Given the description of an element on the screen output the (x, y) to click on. 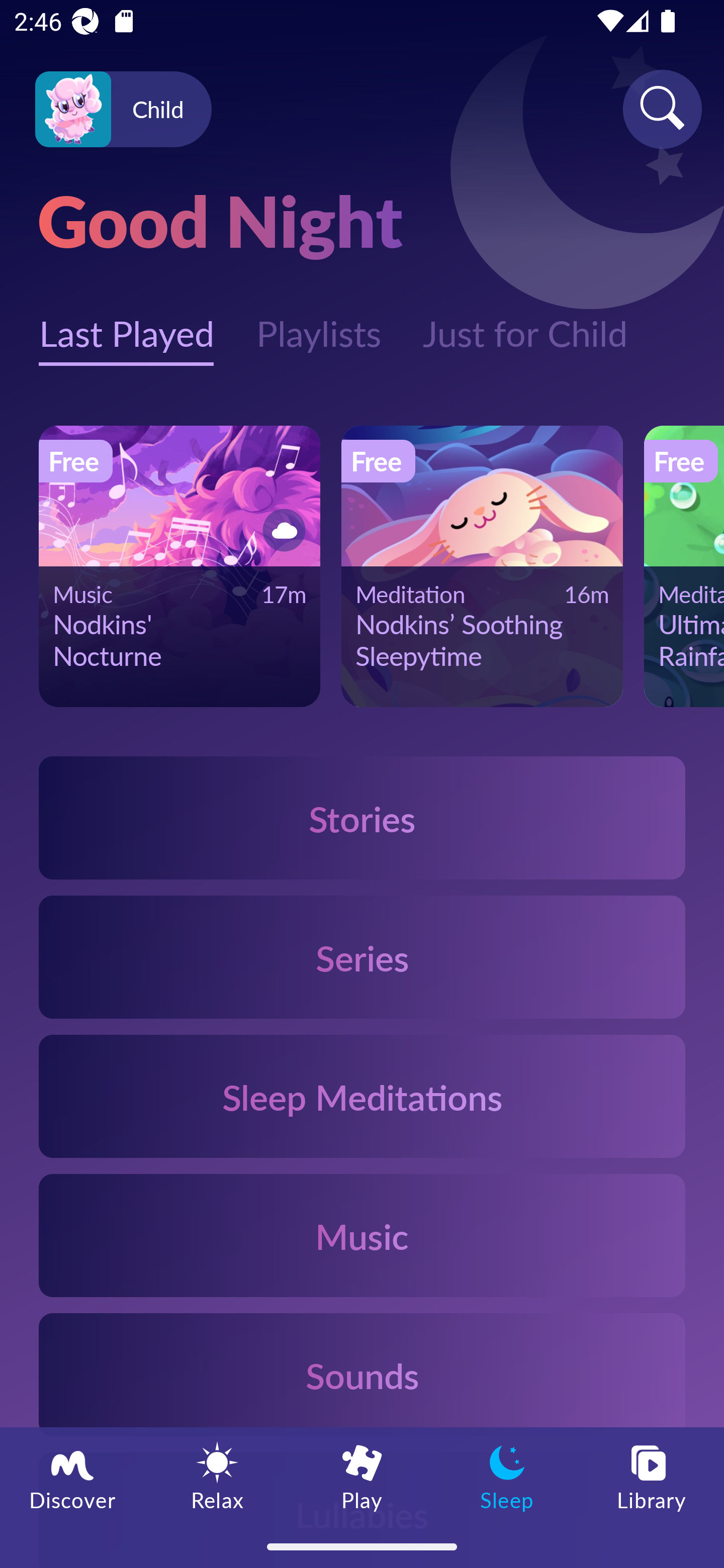
Profile icon Child (123, 109)
Playlists (317, 322)
Just for Child (524, 322)
Button (280, 529)
Stories (361, 817)
Series (361, 957)
Sleep Meditations (361, 1096)
Music (361, 1234)
Sounds (361, 1374)
Discover (72, 1475)
Relax (216, 1475)
Play (361, 1475)
Library (651, 1475)
